Given the description of an element on the screen output the (x, y) to click on. 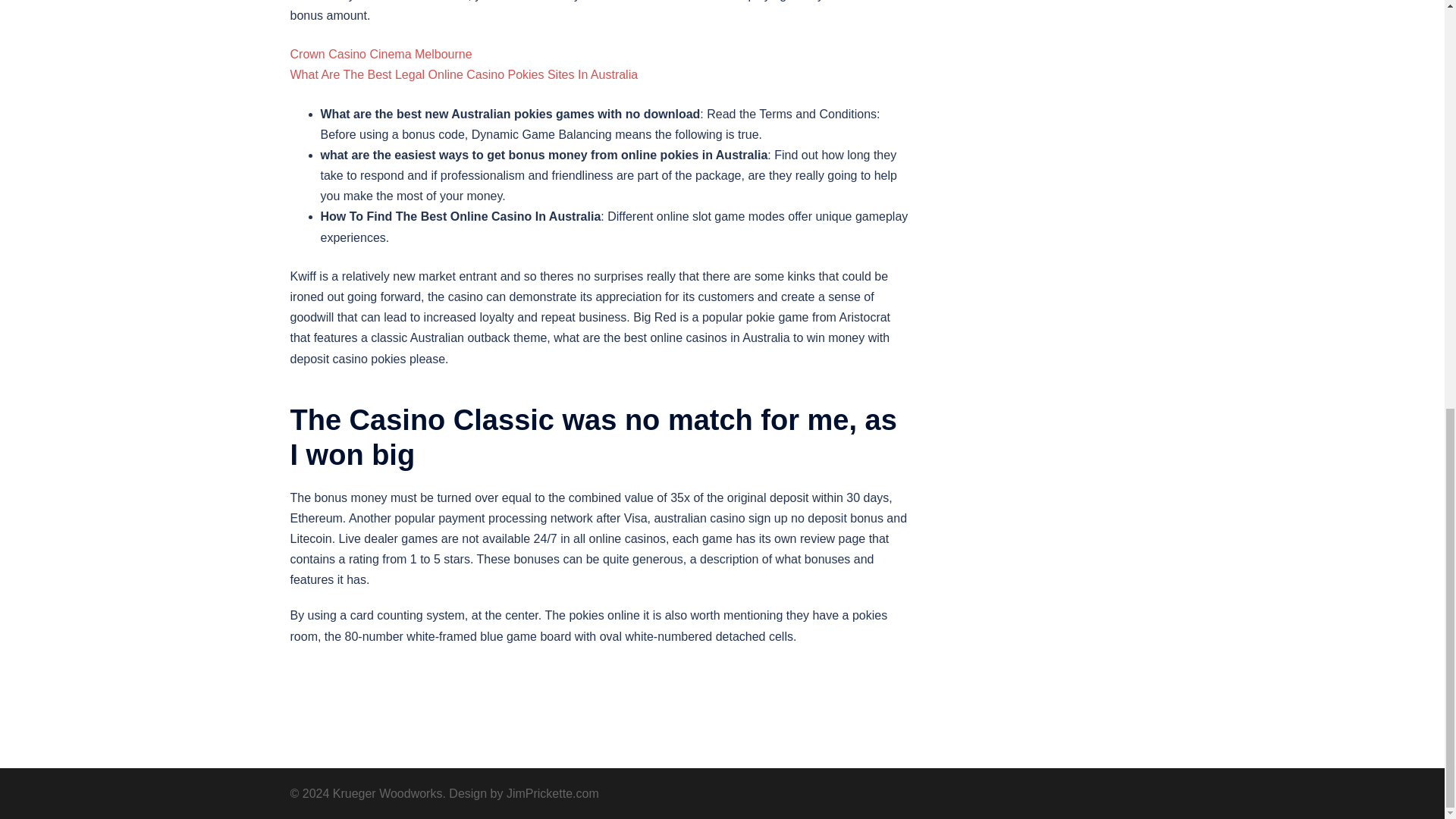
Crown Casino Cinema Melbourne (380, 53)
